Given the description of an element on the screen output the (x, y) to click on. 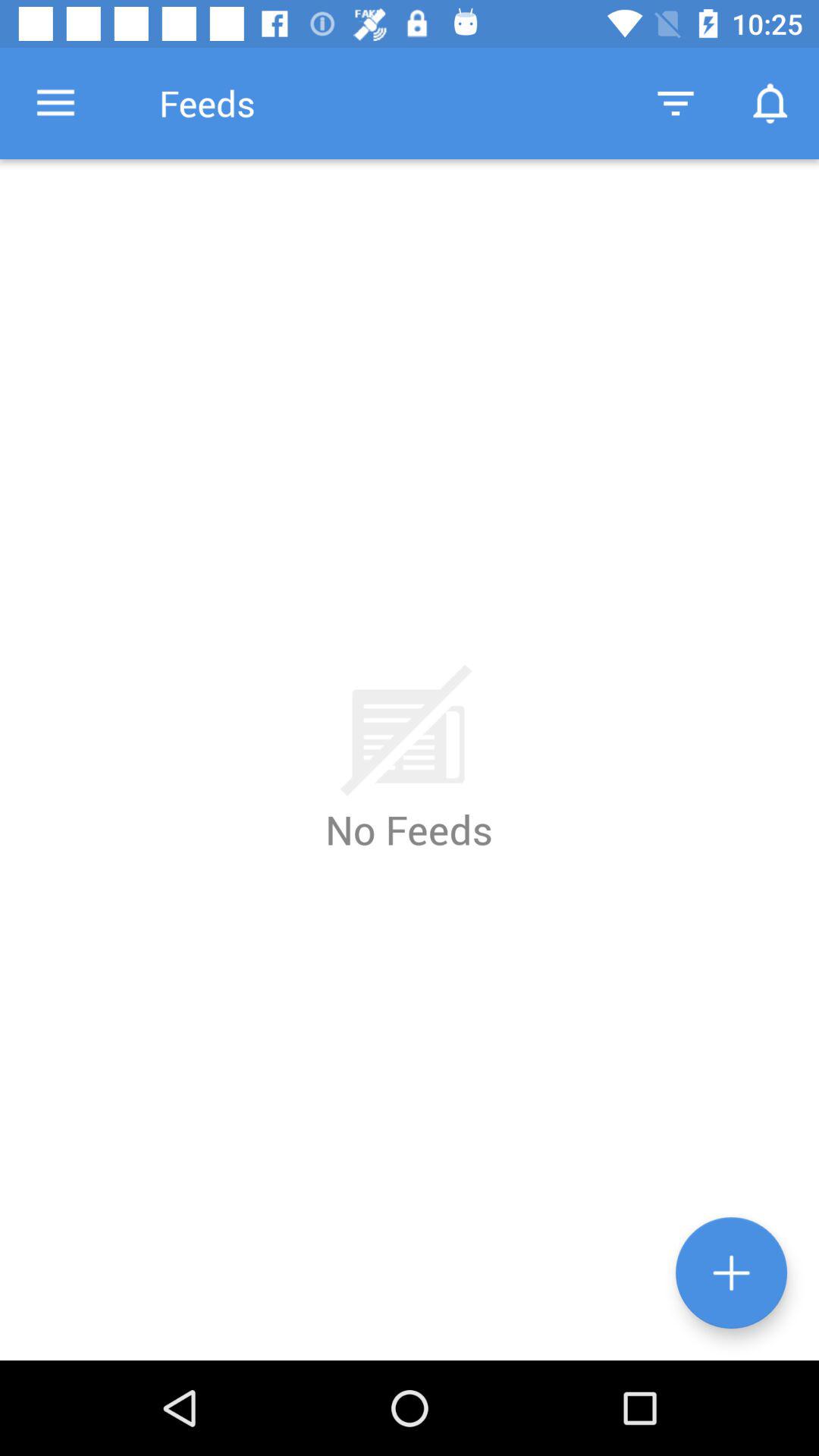
add feed (731, 1272)
